Given the description of an element on the screen output the (x, y) to click on. 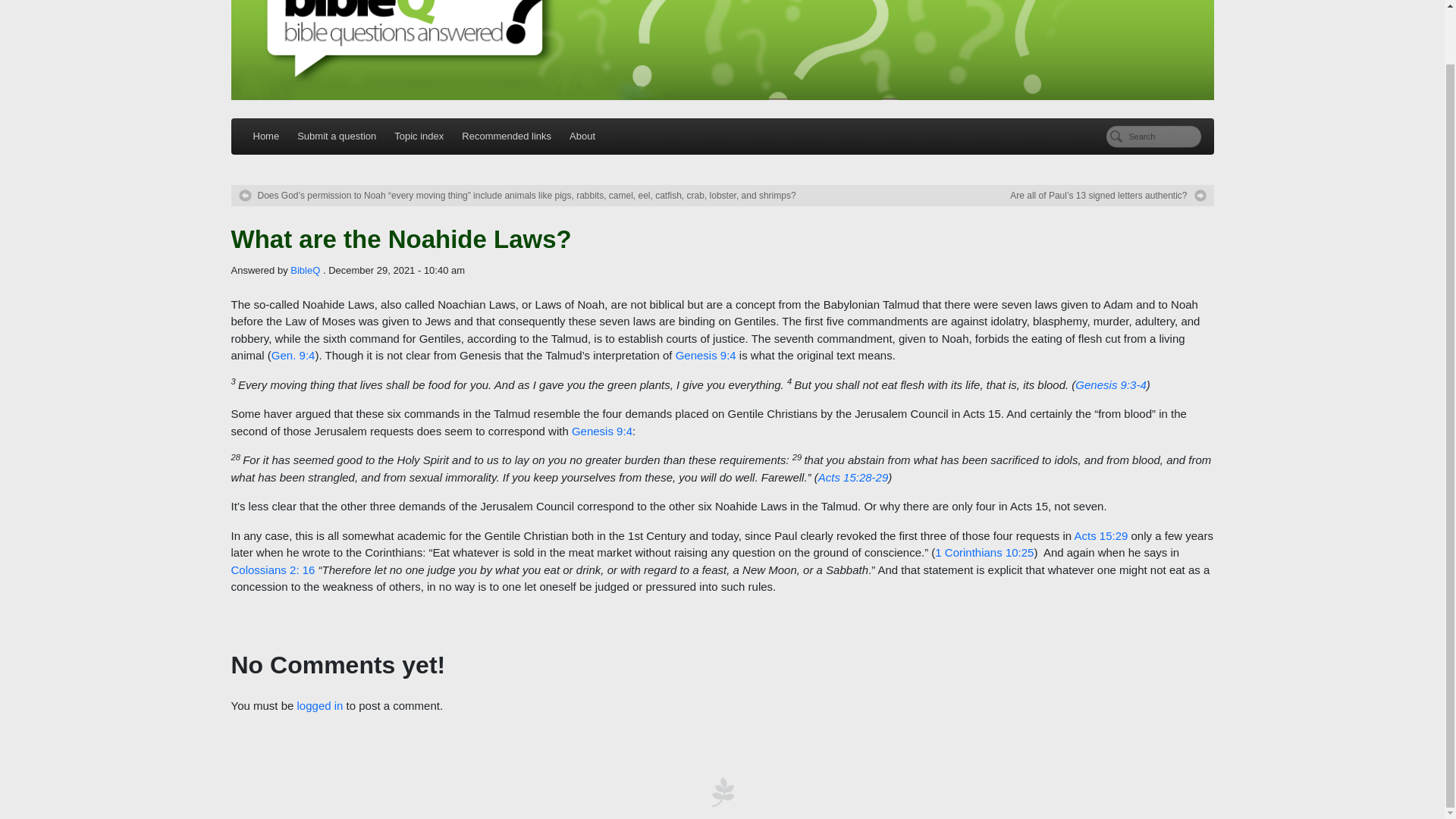
Recommended links (506, 136)
Recommended links (506, 136)
Home (266, 136)
Bible Q (721, 49)
About (582, 136)
Topic index (418, 136)
Search (1152, 137)
Submit a question (336, 136)
Acts 15:29 (1100, 535)
Genesis 9:4 (601, 431)
Submit a question (336, 136)
Acts 15:28-29 (853, 477)
View all posts by BibleQ (304, 270)
1 Corinthians 10:25 (983, 552)
Gen. 9:4 (292, 354)
